Given the description of an element on the screen output the (x, y) to click on. 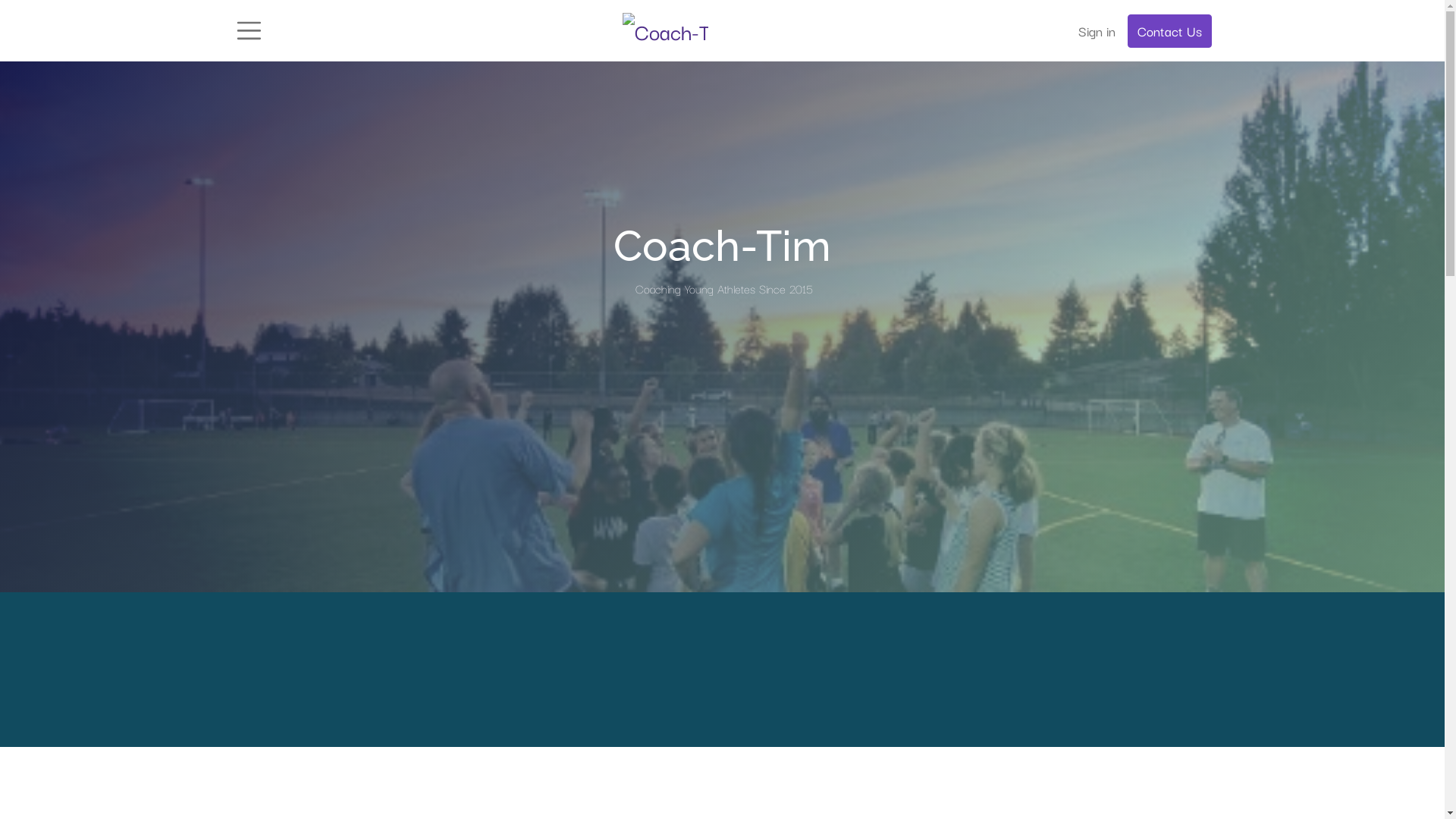
Contact Us Element type: text (1168, 30)
Coach-Tim.com Element type: hover (665, 30)
Sign in Element type: text (1096, 30)
